Given the description of an element on the screen output the (x, y) to click on. 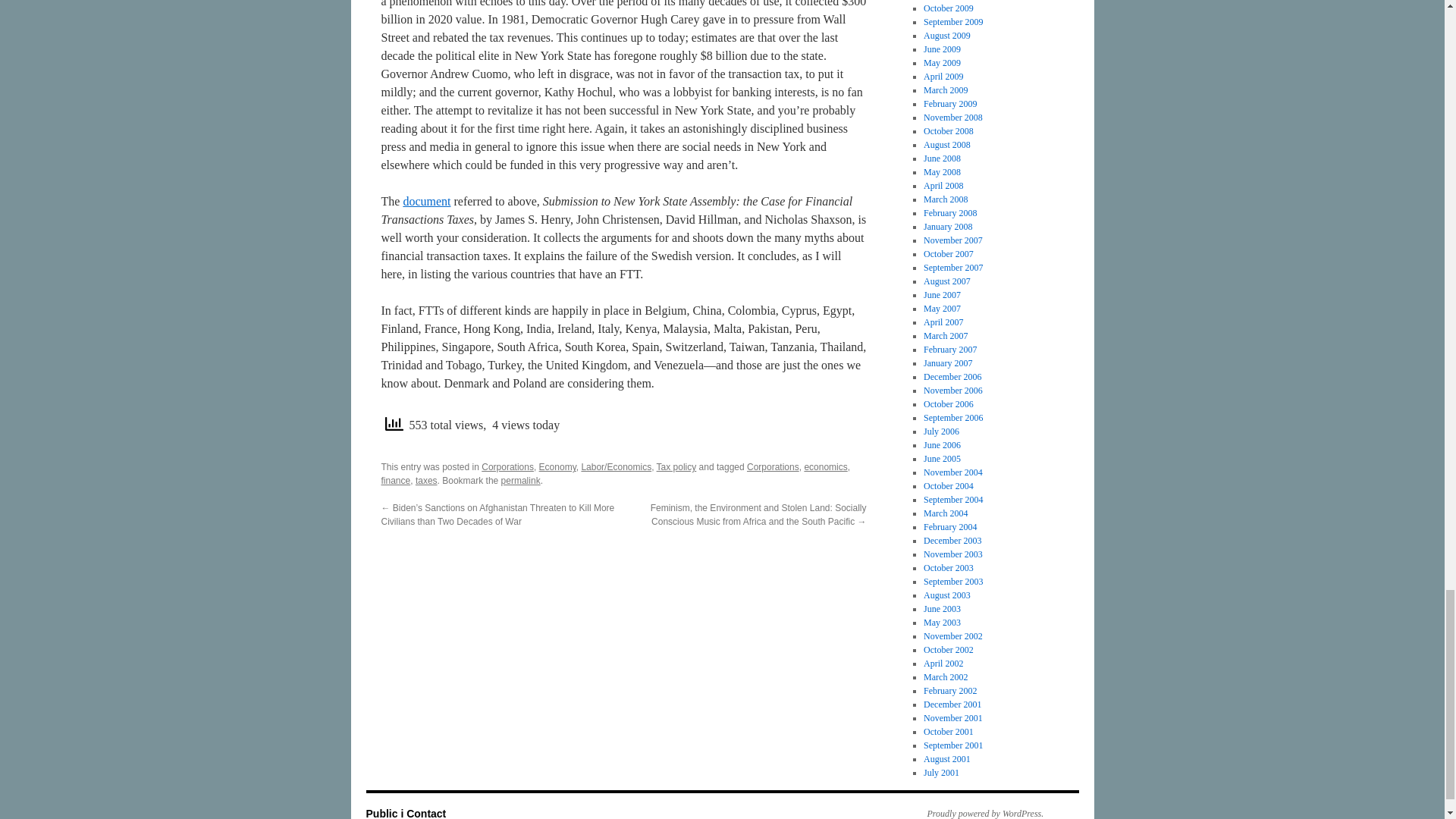
Economy (557, 466)
economics (825, 466)
finance (395, 480)
permalink (520, 480)
document (426, 201)
taxes (426, 480)
Tax policy (676, 466)
Corporations (772, 466)
Corporations (507, 466)
